Given the description of an element on the screen output the (x, y) to click on. 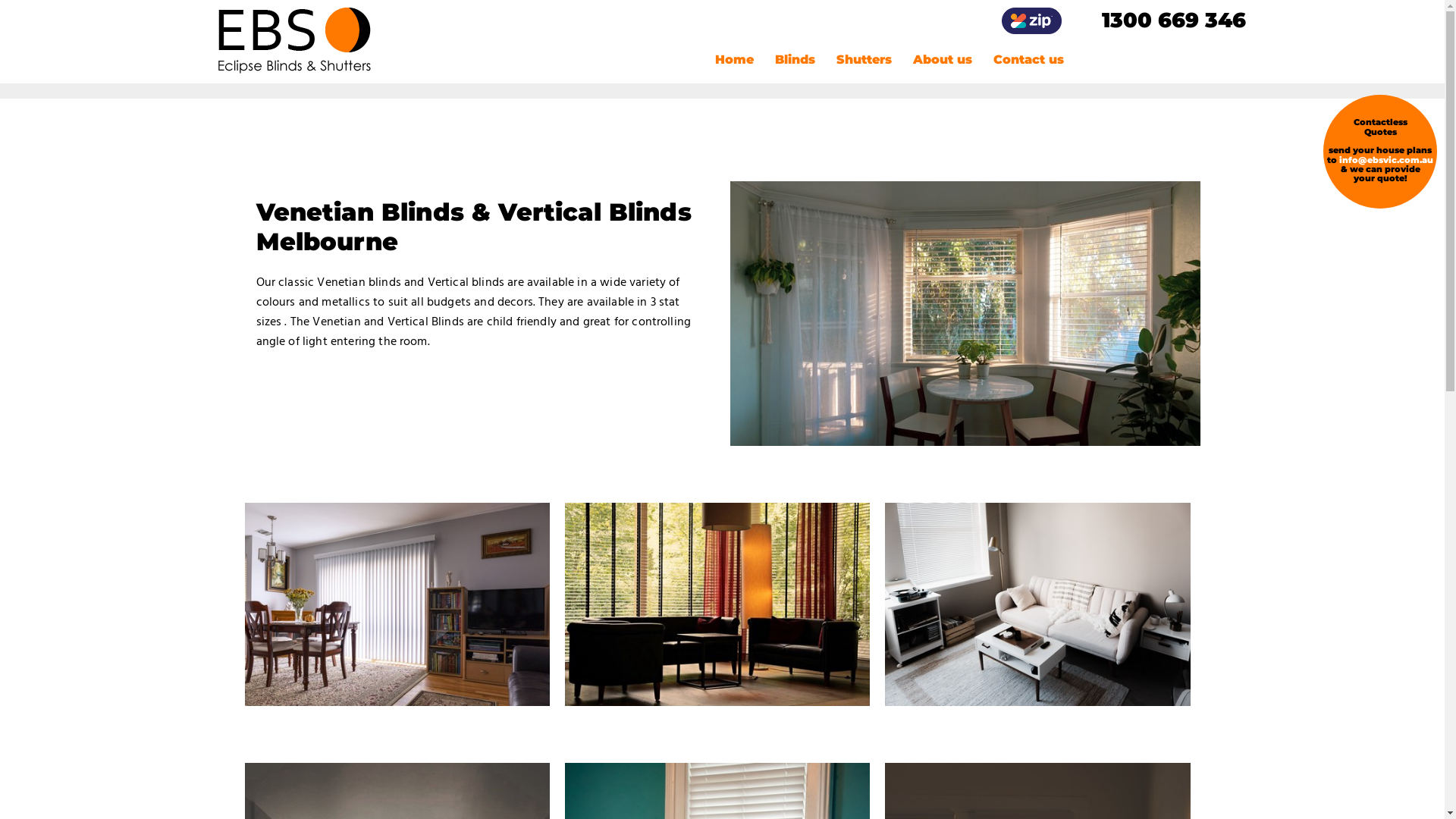
Blinds Element type: text (794, 59)
Shutters Element type: text (863, 59)
Contact us Element type: text (1028, 59)
About us Element type: text (942, 59)
Home Element type: text (733, 59)
info@ebsvic.com.au Element type: text (1386, 159)
